Given the description of an element on the screen output the (x, y) to click on. 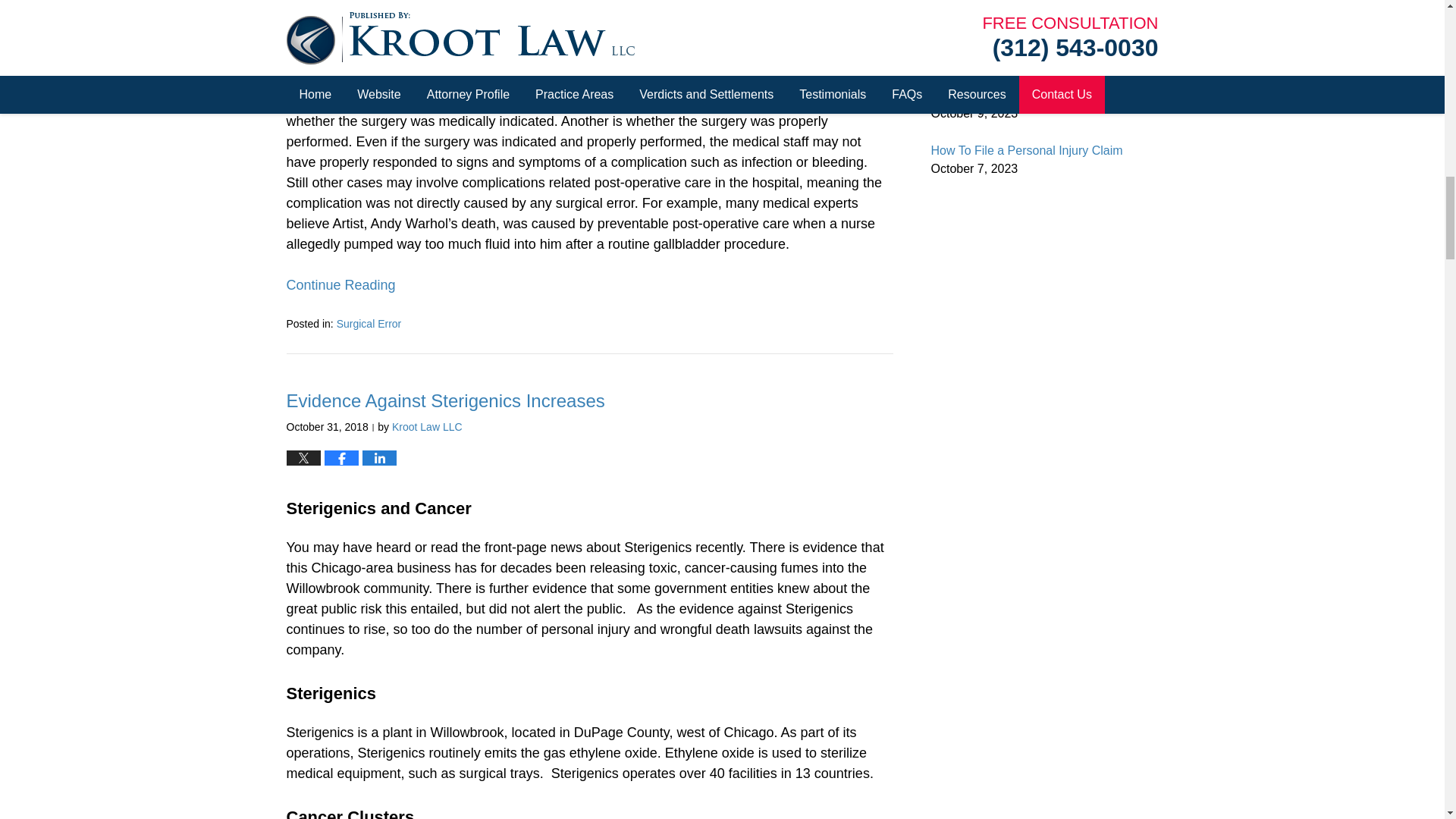
Permalink to Evidence Against Sterigenics Increases (445, 400)
View all posts in Surgical Error (368, 323)
